Given the description of an element on the screen output the (x, y) to click on. 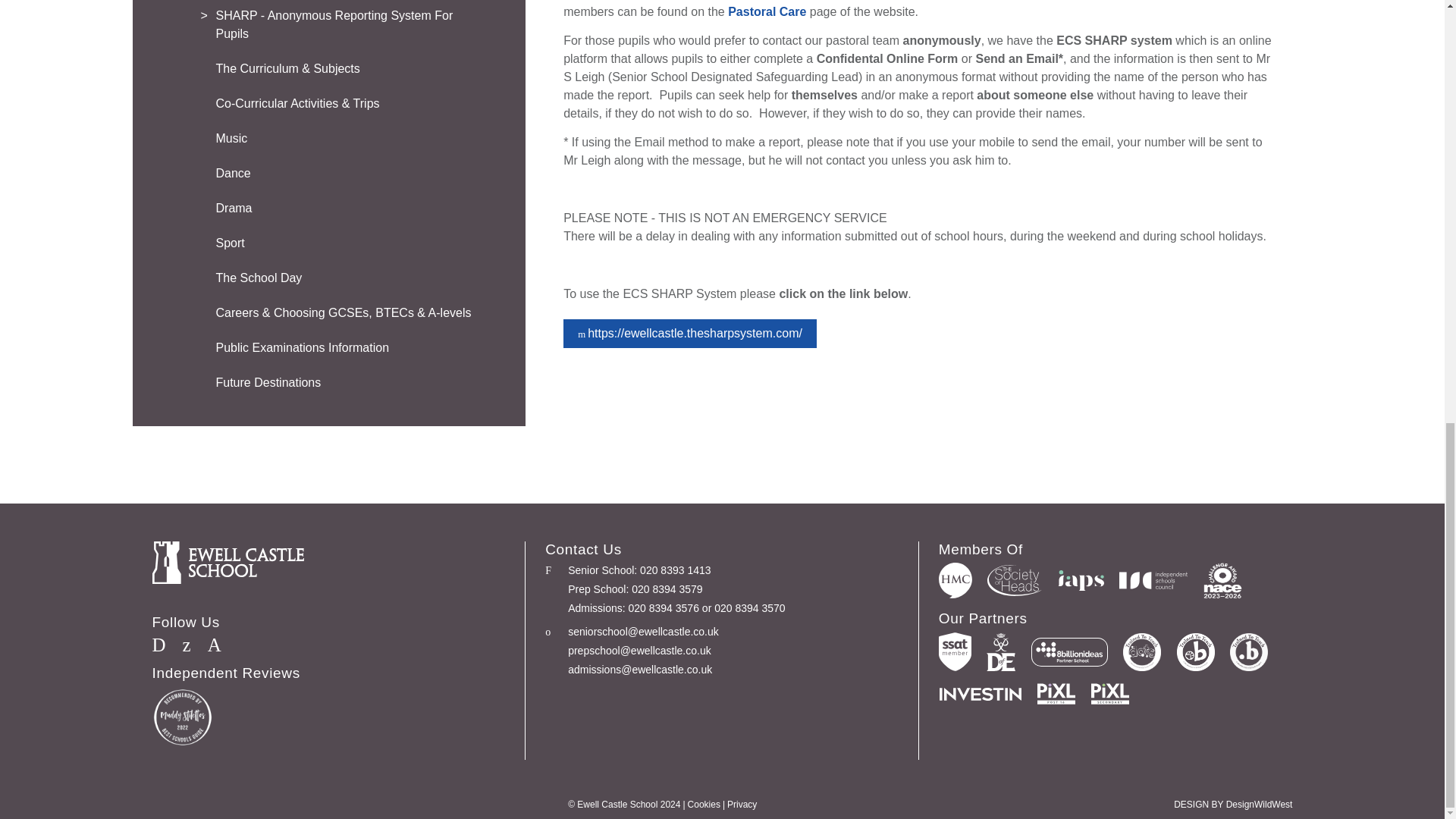
Independent Schools Council (1153, 579)
Teach .b (1249, 651)
PiXL Post 16 (1055, 693)
PiXL Secondary (1109, 693)
8billionideas Partner School (1069, 652)
Muddy Stilettos (181, 717)
NACE Challenge Award (1222, 580)
Teach dots (1141, 651)
The Independent Association of Prep Schools (1080, 580)
InvestIN (980, 692)
The Society of Heads (1014, 580)
Teach Paws b (1195, 651)
ECS SHARP System (689, 333)
